Given the description of an element on the screen output the (x, y) to click on. 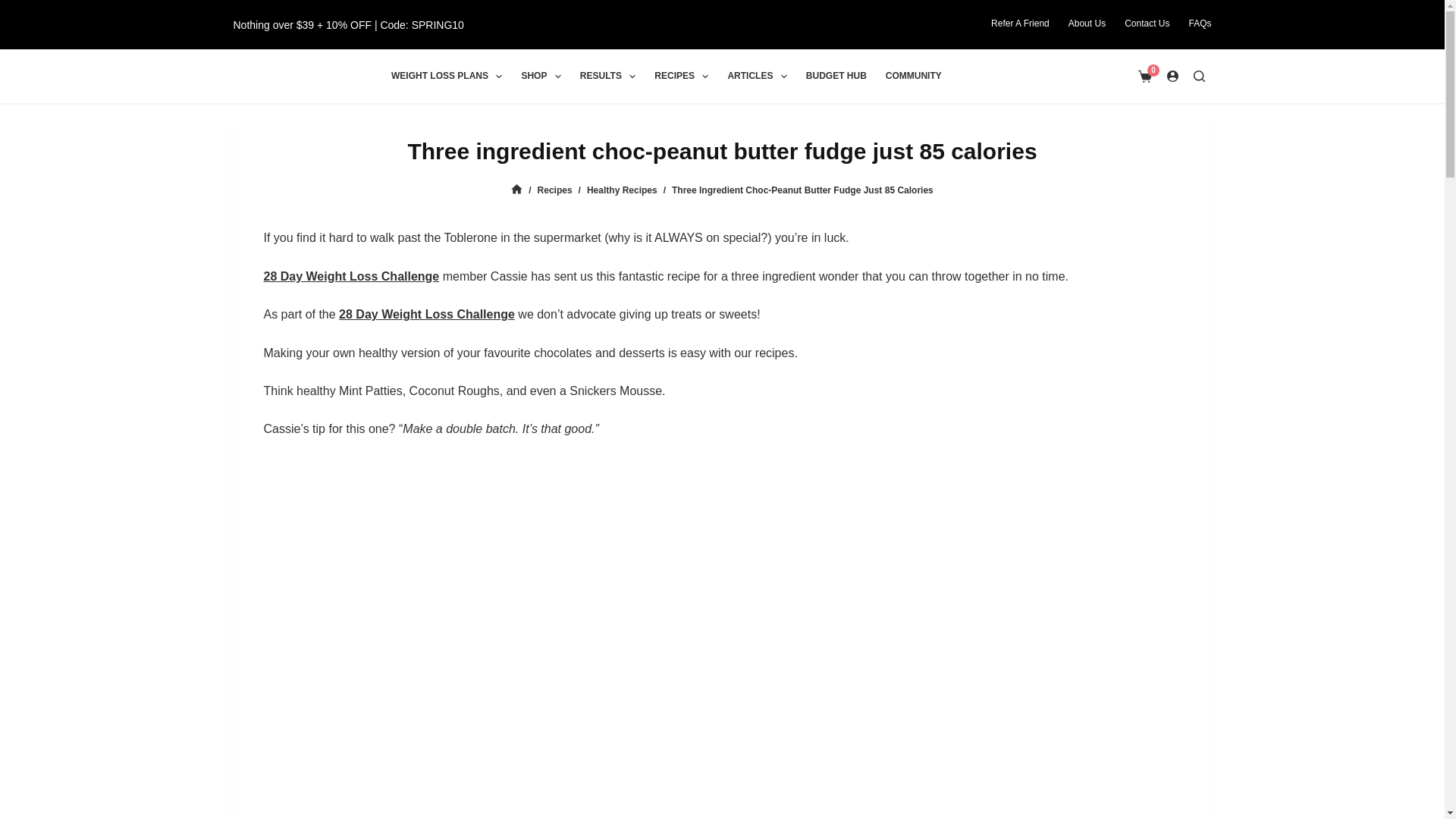
Three ingredient choc-peanut butter fudge just 85 calories (721, 150)
Skip to content (15, 7)
Get our offer (348, 23)
